Given the description of an element on the screen output the (x, y) to click on. 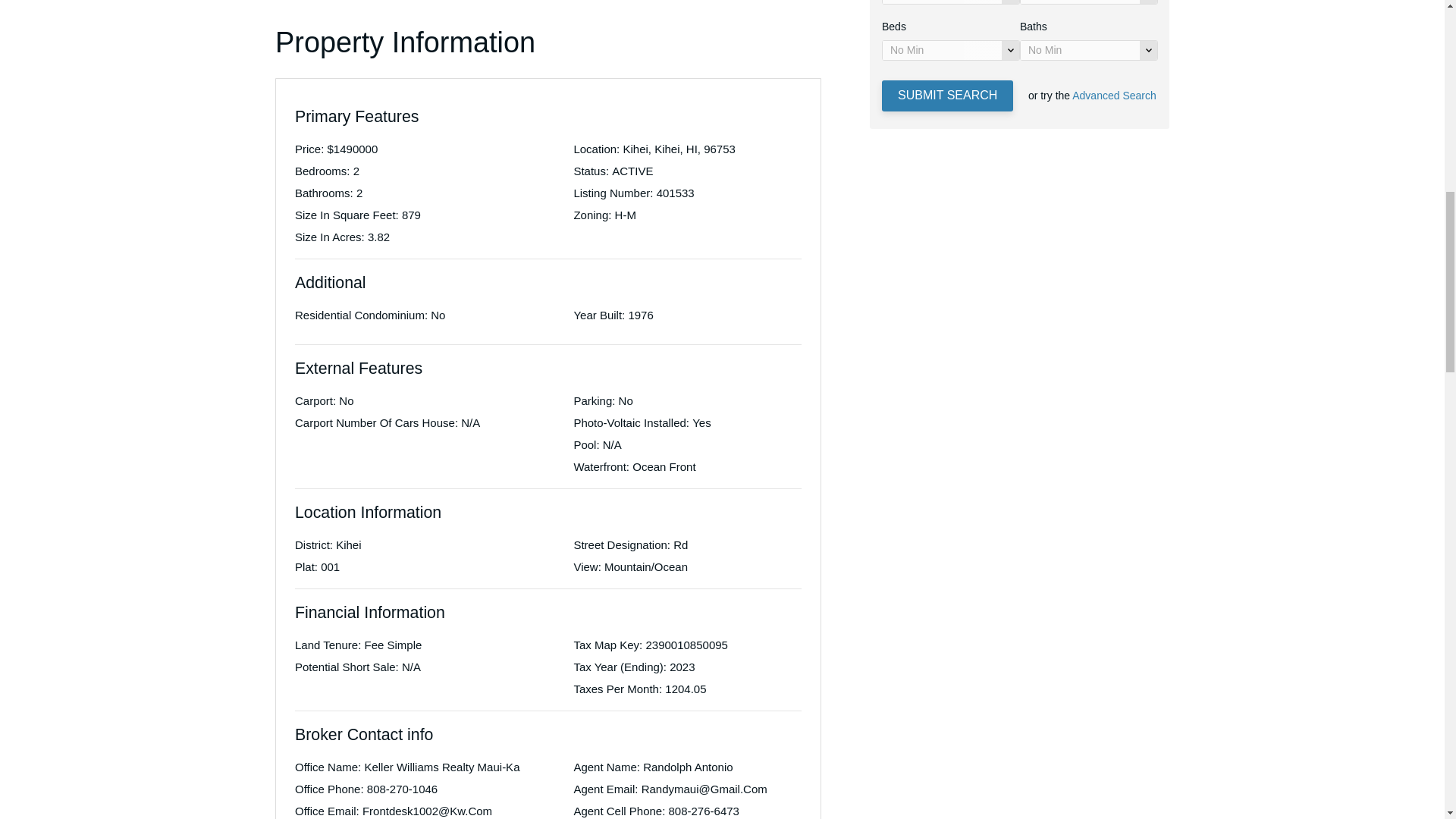
SUBMIT SEARCH (947, 96)
Advanced Search (1113, 95)
